Given the description of an element on the screen output the (x, y) to click on. 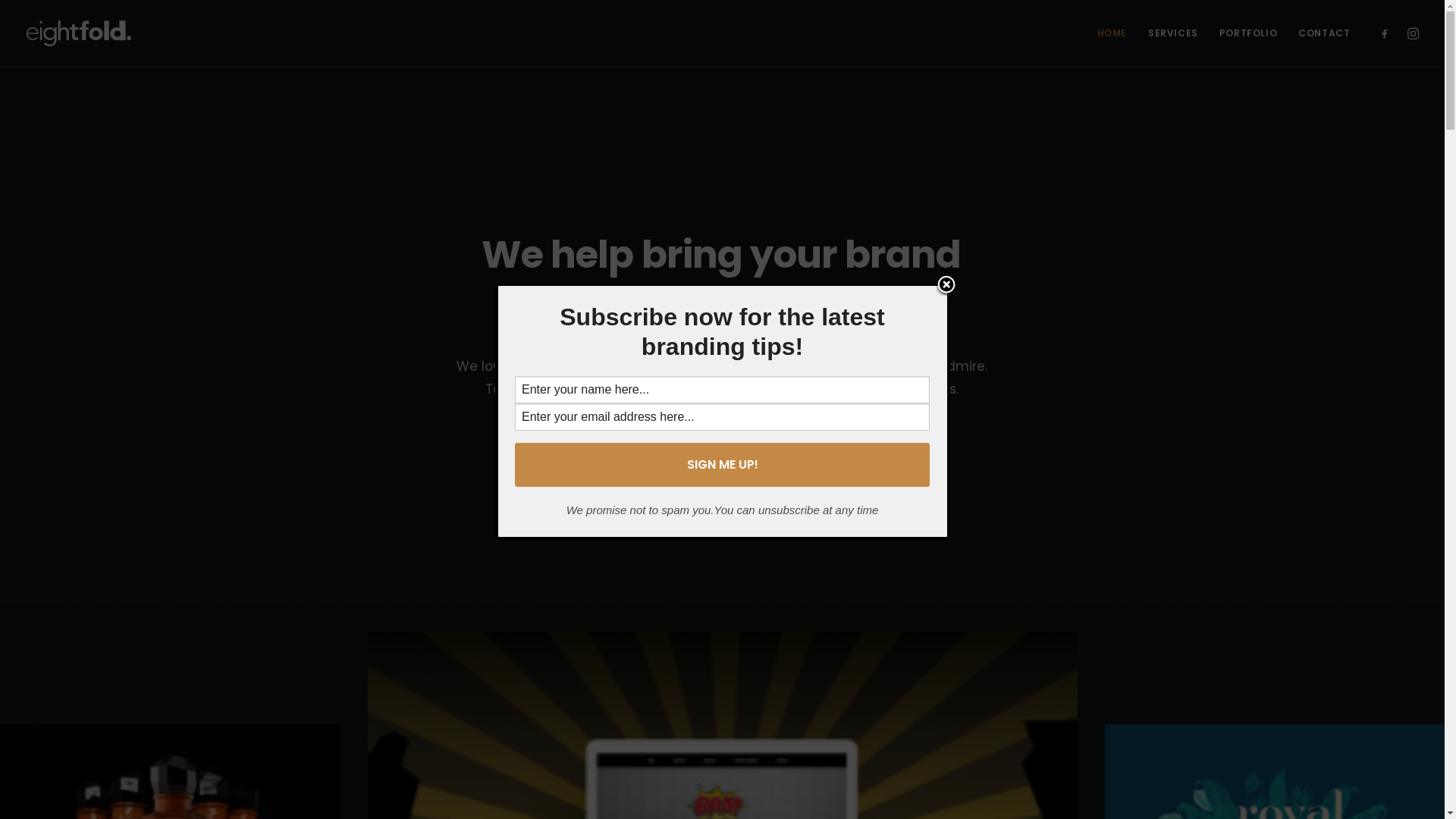
GET IN TOUCH Element type: text (722, 449)
Close Element type: text (945, 285)
HOME Element type: text (1111, 33)
Take Action Now! Element type: text (224, 21)
SERVICES Element type: text (1172, 33)
CONTACT Element type: text (1318, 33)
PORTFOLIO Element type: text (1247, 33)
SIGN ME UP! Element type: text (721, 464)
